Given the description of an element on the screen output the (x, y) to click on. 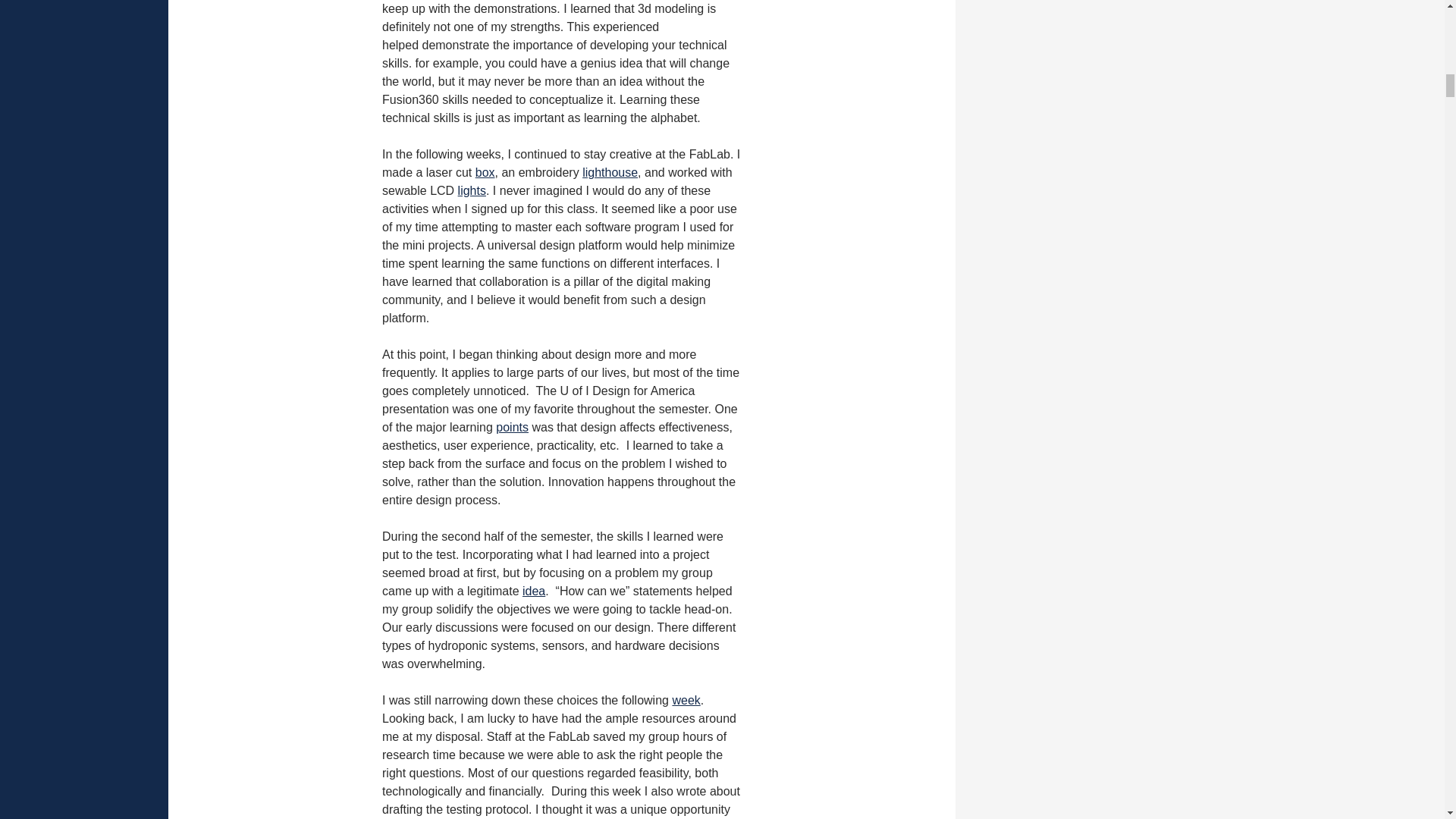
box (485, 172)
idea (533, 590)
points (512, 427)
lights (472, 190)
lighthouse (609, 172)
week (685, 699)
